Given the description of an element on the screen output the (x, y) to click on. 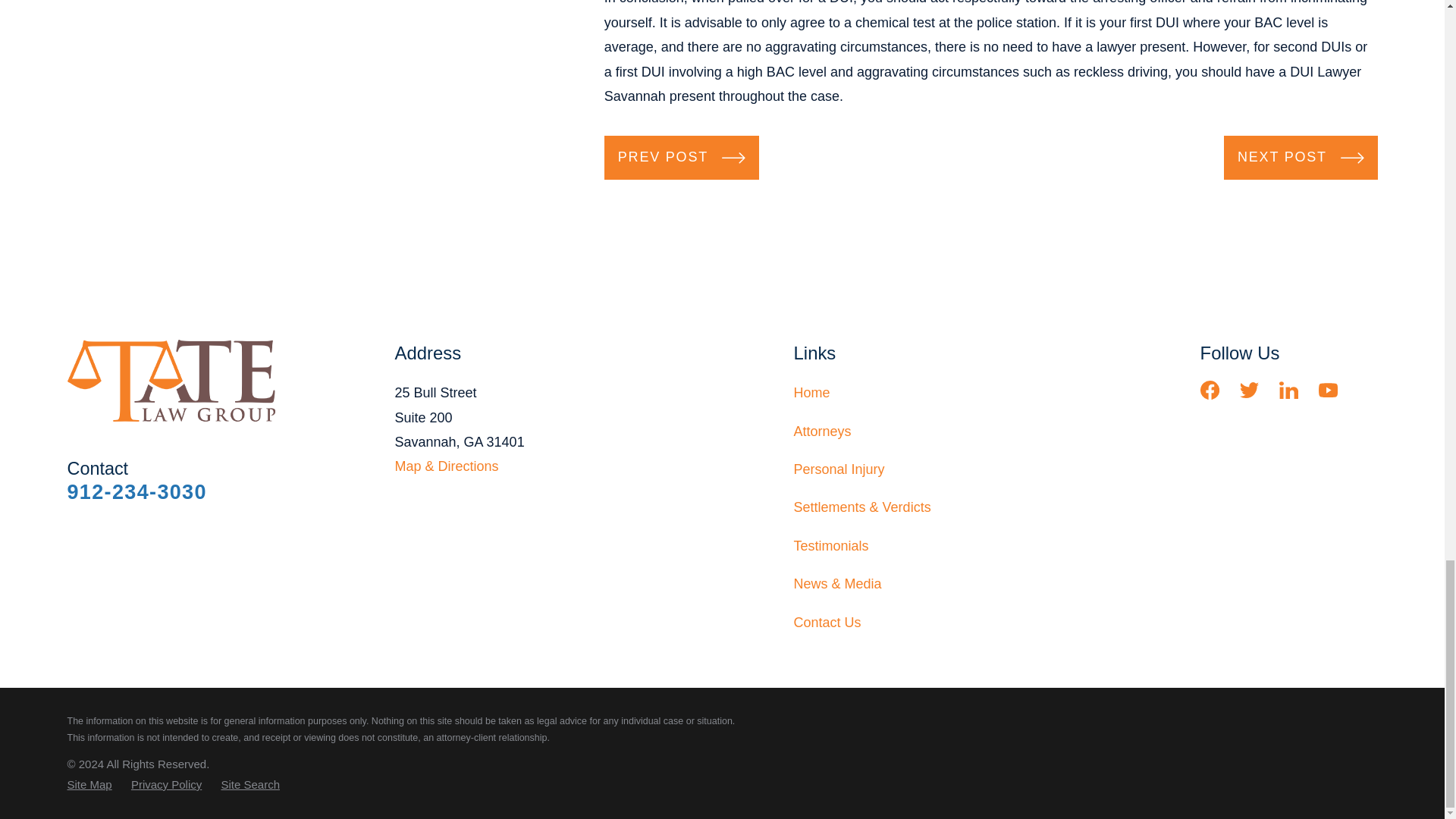
LinkedIn (1288, 389)
Facebook (1209, 389)
Twitter (1249, 389)
Tate Law Group, LLC (170, 380)
Home (175, 380)
YouTube (1328, 389)
